Given the description of an element on the screen output the (x, y) to click on. 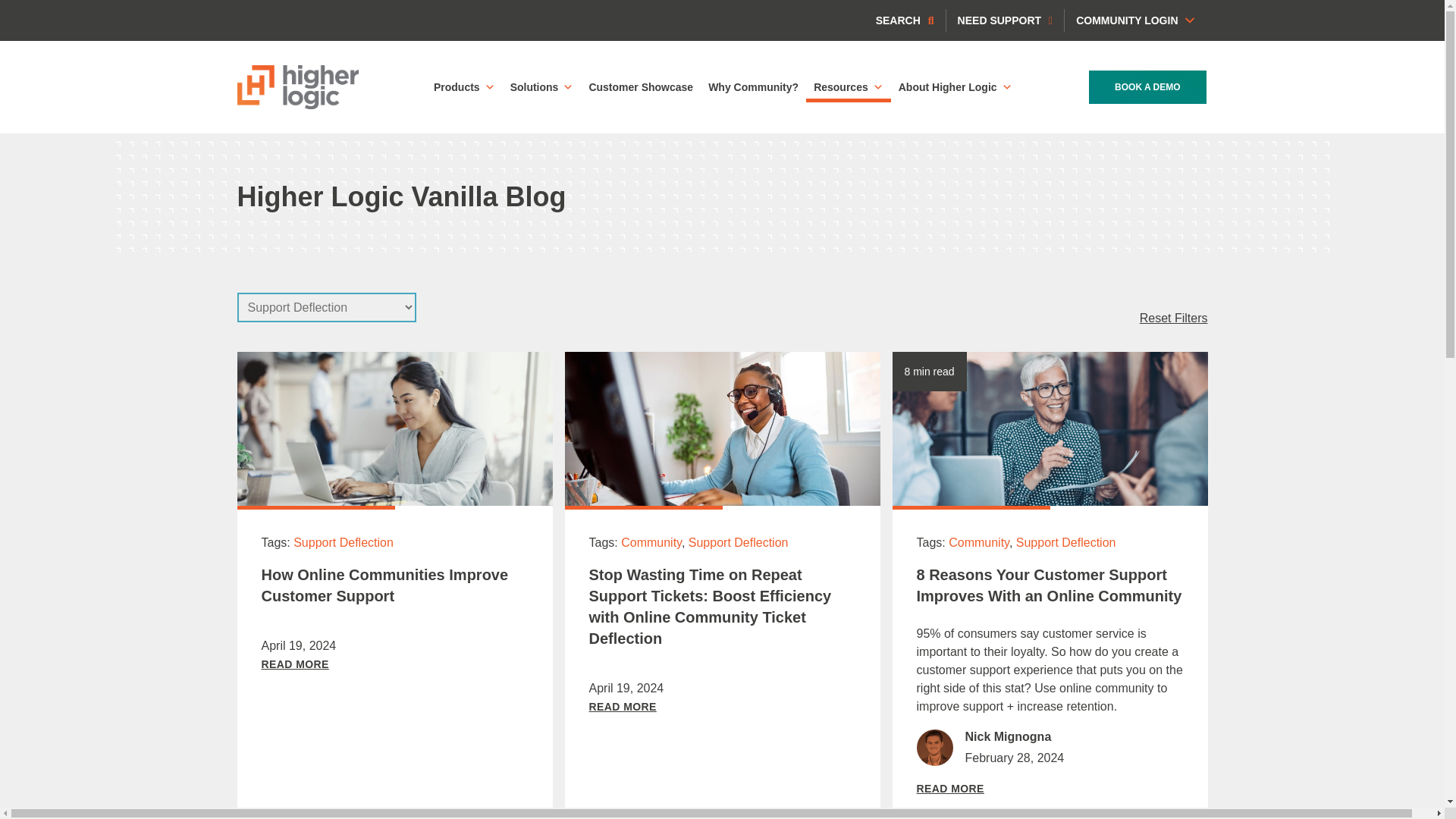
SEARCH (904, 20)
Why Community? (753, 87)
Customer Showcase (640, 87)
NEED SUPPORT (1005, 20)
Solutions (541, 87)
COMMUNITY LOGIN (1135, 20)
Products (464, 87)
